Given the description of an element on the screen output the (x, y) to click on. 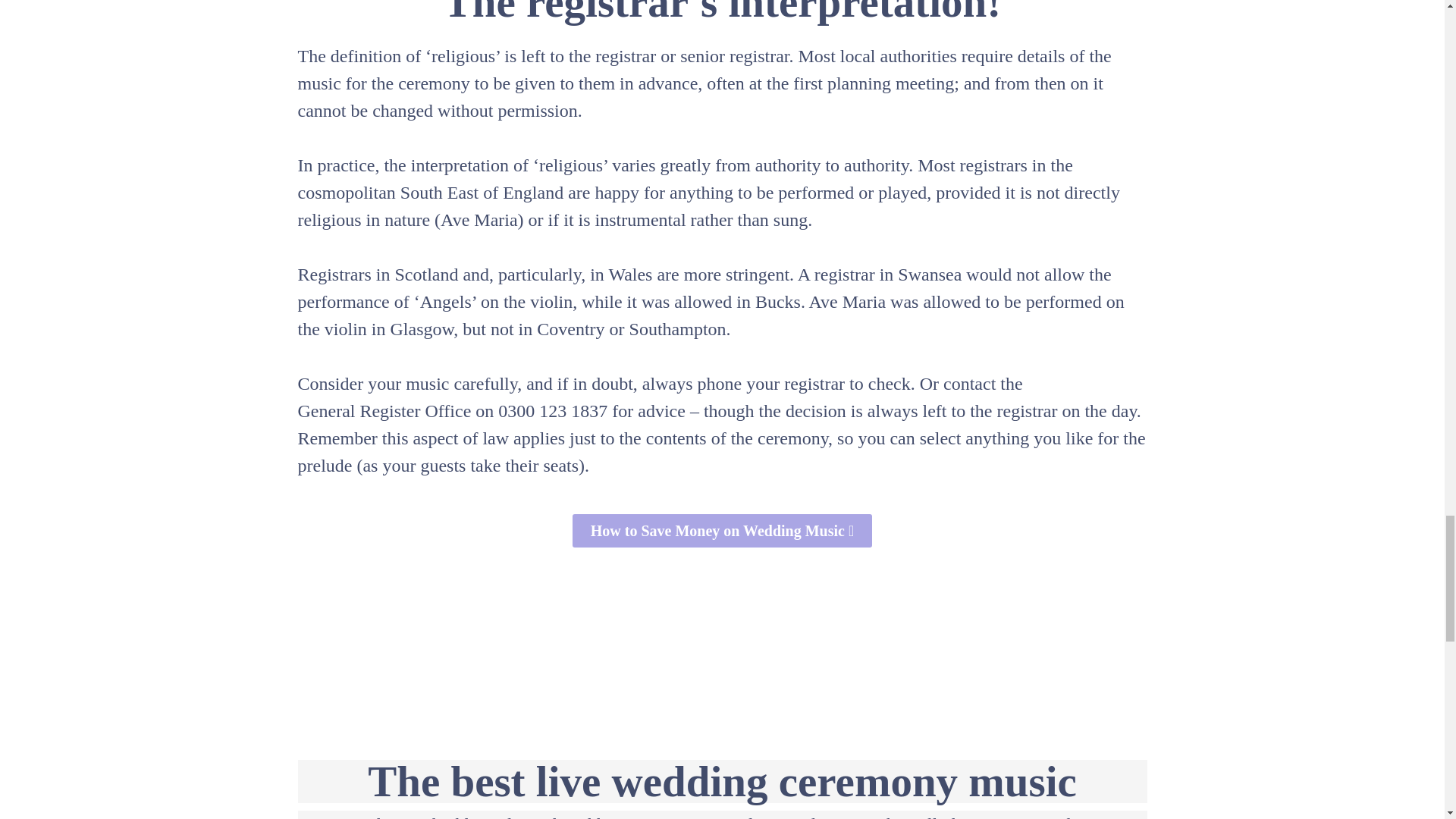
Songs You Can't Have at a Civil Ceremony 2 (721, 630)
